Given the description of an element on the screen output the (x, y) to click on. 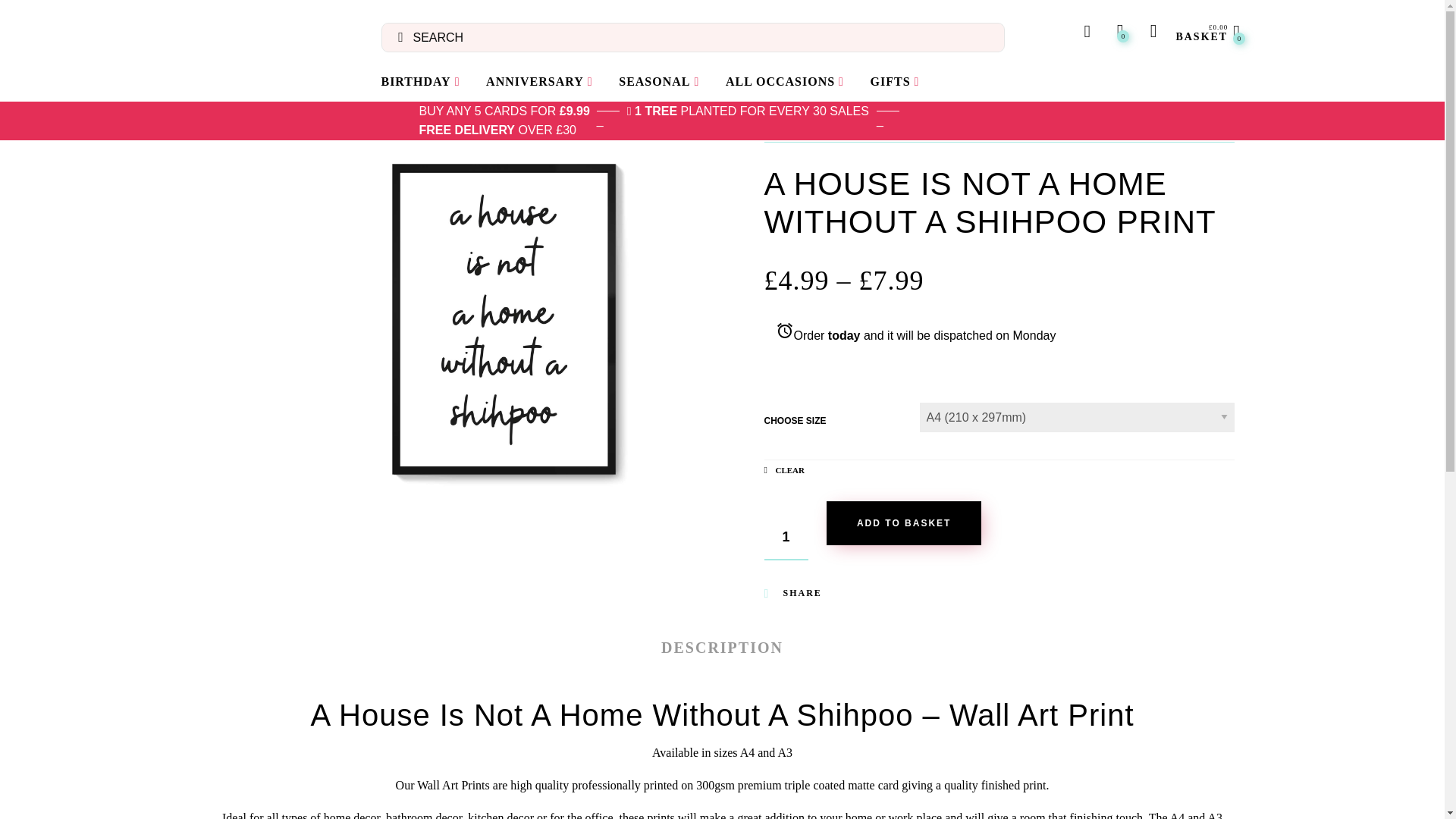
1 (786, 538)
Search (15, 15)
BIRTHDAY (419, 81)
